Given the description of an element on the screen output the (x, y) to click on. 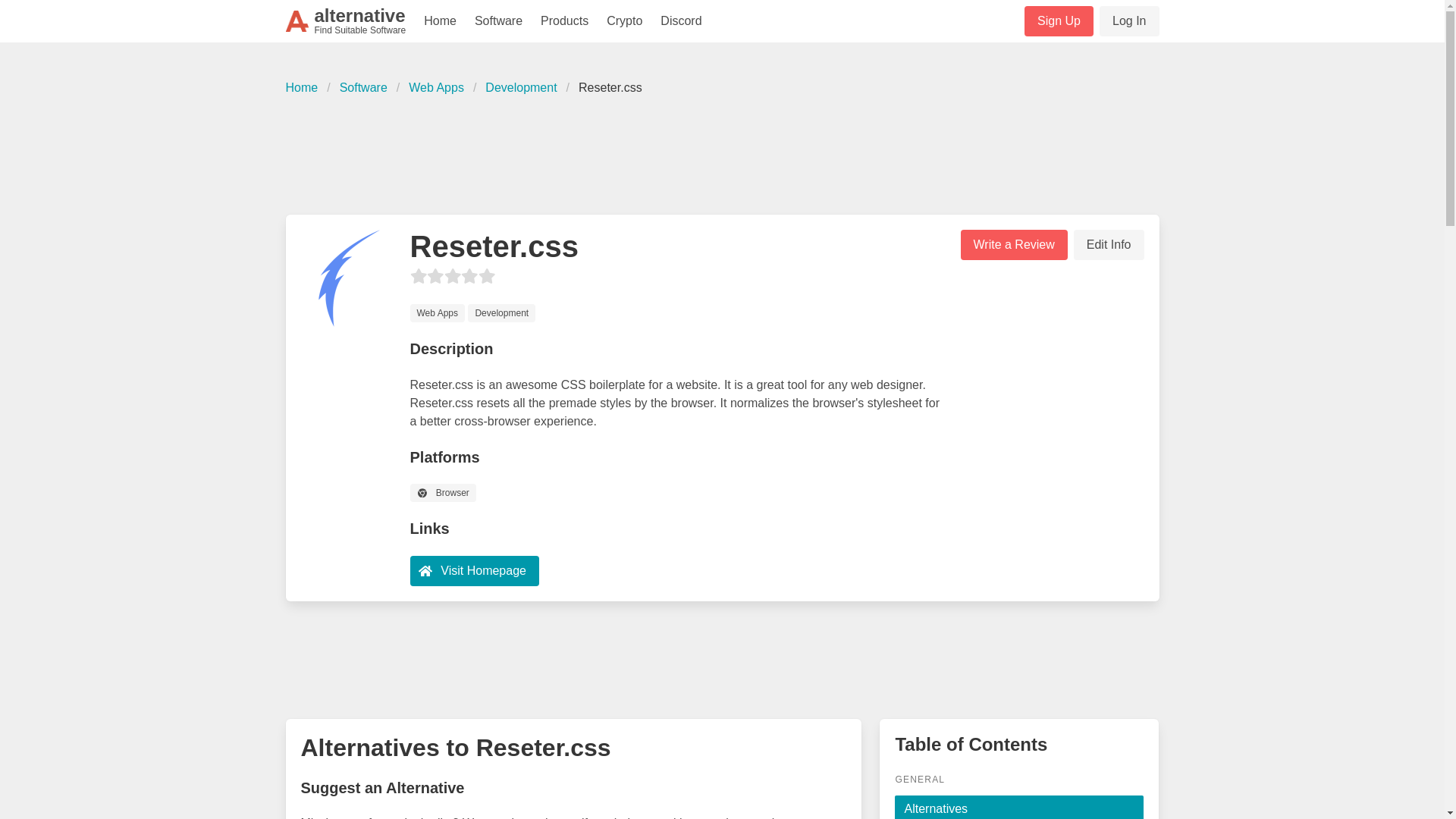
Home (305, 87)
Software (363, 87)
Home (439, 21)
Products (563, 21)
Alternatives (1018, 806)
Edit Info (1109, 245)
Development (345, 21)
Sign Up (521, 87)
Advertisement (1059, 20)
